Given the description of an element on the screen output the (x, y) to click on. 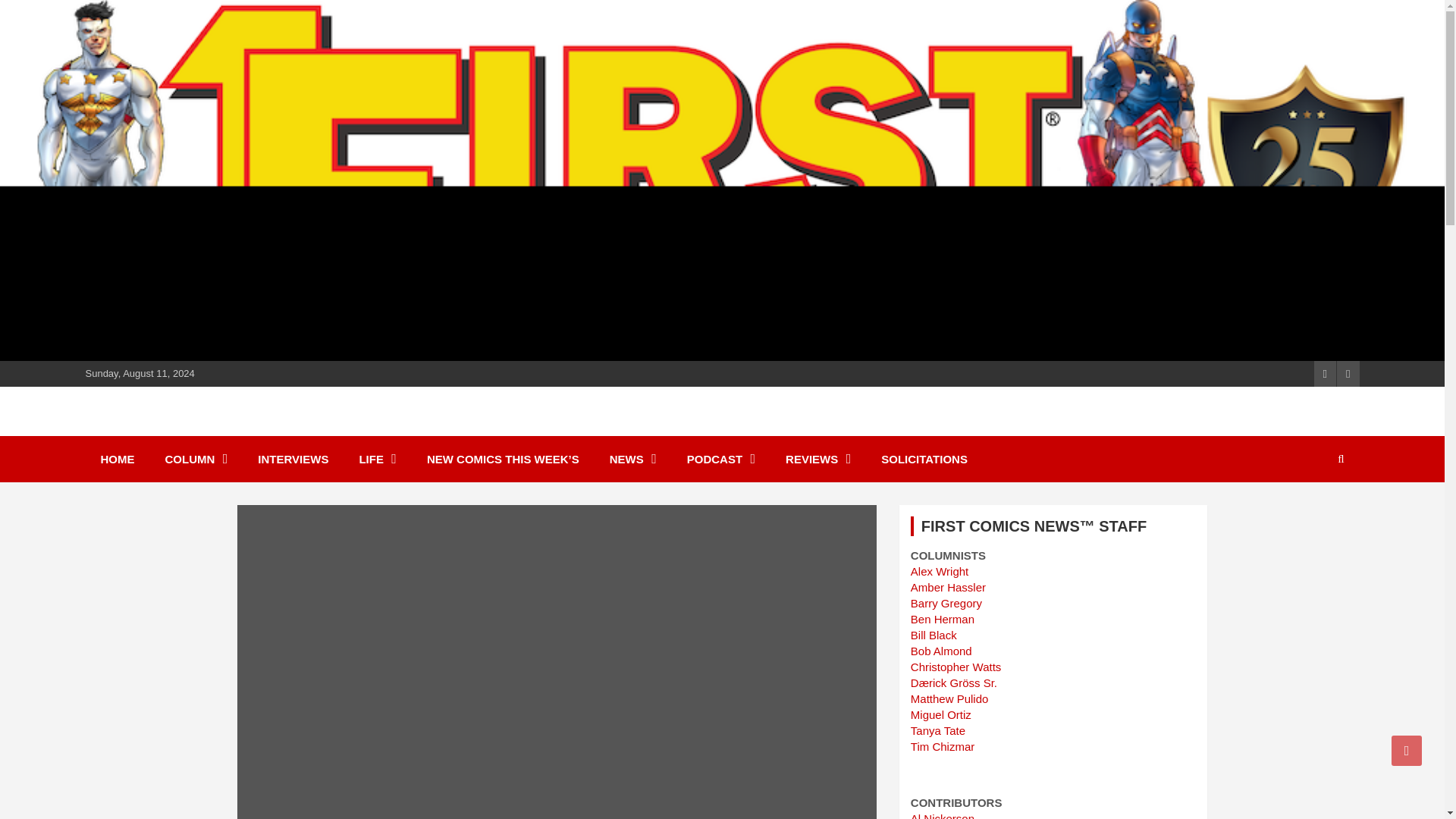
Go to Top (1406, 750)
COLUMN (196, 458)
LIFE (377, 458)
HOME (116, 458)
INTERVIEWS (293, 458)
First Comics News (220, 428)
REVIEWS (818, 458)
PODCAST (720, 458)
NEWS (632, 458)
